Given the description of an element on the screen output the (x, y) to click on. 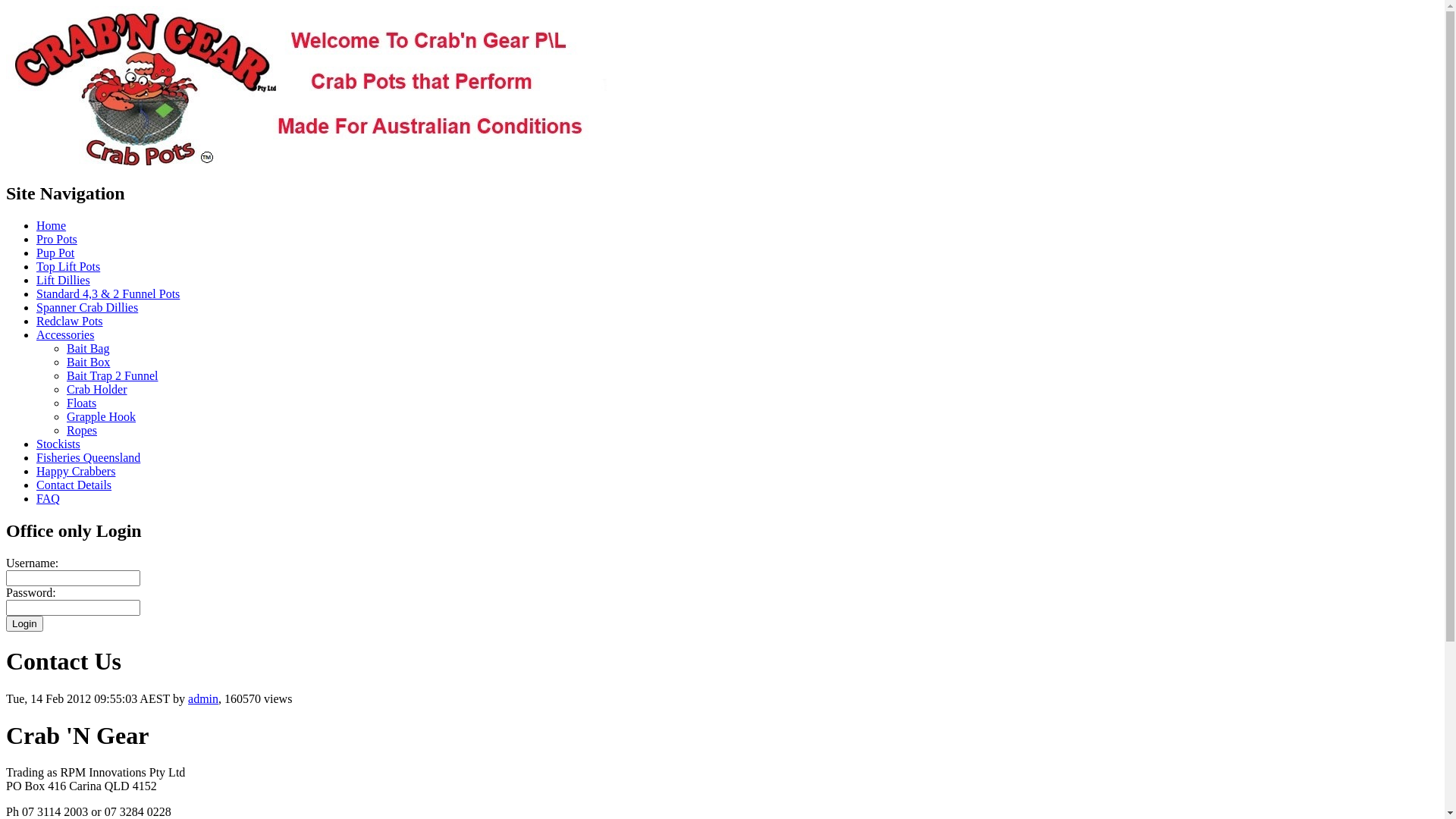
Crab Holder Element type: text (96, 388)
Fisheries Queensland Element type: text (88, 457)
Ropes Element type: text (81, 429)
Redclaw Pots Element type: text (69, 320)
Top Lift Pots Element type: text (68, 266)
Lift Dillies Element type: text (63, 279)
FAQ Element type: text (47, 498)
Accessories Element type: text (65, 334)
Bait Bag Element type: text (87, 348)
Contact Details Element type: text (73, 484)
Floats Element type: text (81, 402)
Login Element type: text (24, 623)
Spanner Crab Dillies Element type: text (87, 307)
admin Element type: text (203, 697)
Pro Pots Element type: text (56, 238)
Bait Trap 2 Funnel Element type: text (111, 375)
Bait Box Element type: text (87, 361)
Grapple Hook Element type: text (100, 416)
Stockists Element type: text (58, 443)
Standard 4,3 & 2 Funnel Pots Element type: text (107, 293)
Happy Crabbers Element type: text (75, 470)
Home Element type: text (50, 225)
Pup Pot Element type: text (55, 252)
